Given the description of an element on the screen output the (x, y) to click on. 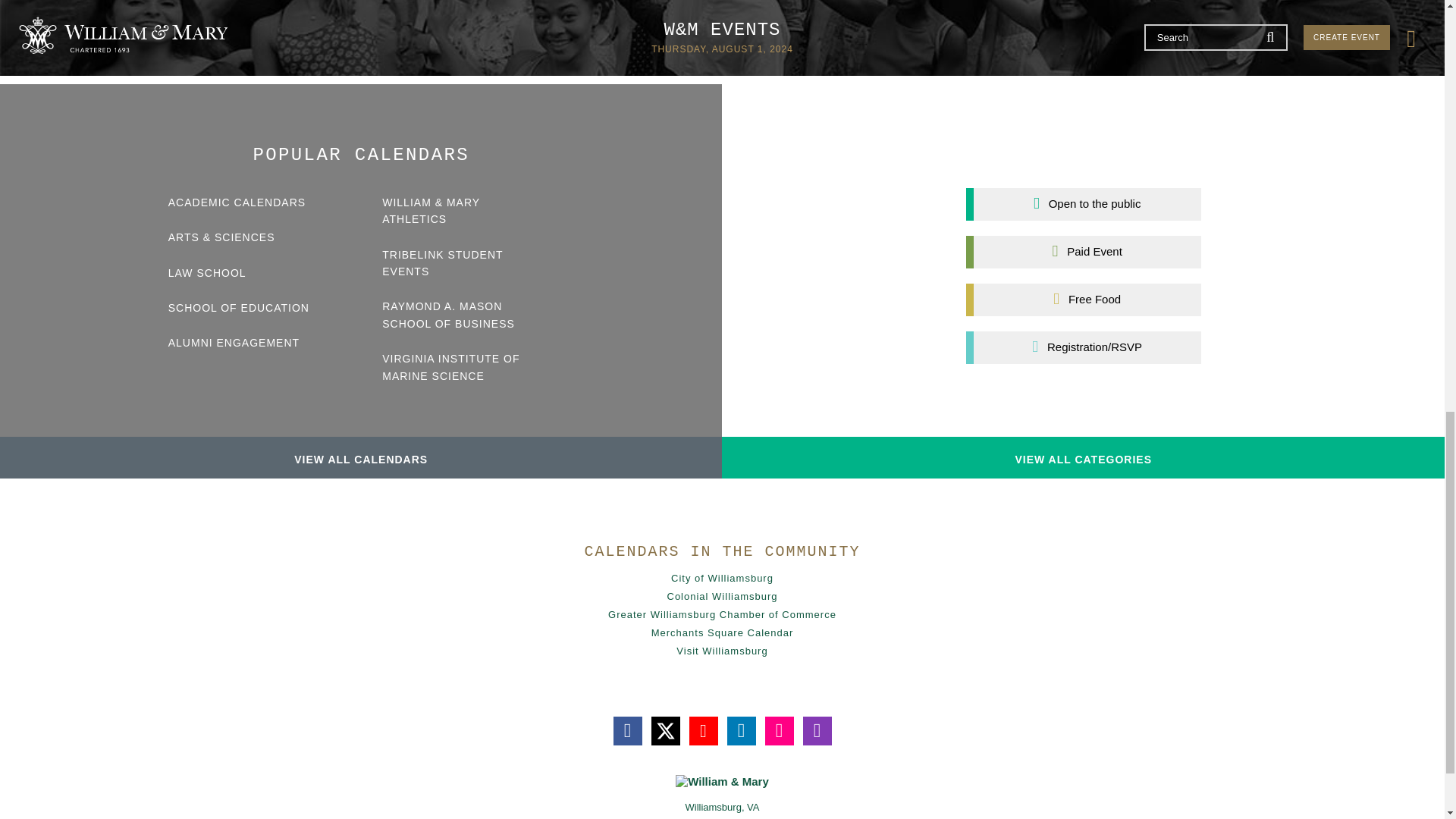
X (664, 730)
Instagram (816, 730)
Facebook (627, 730)
YouTube (702, 730)
Writing and Communication Center Events (442, 19)
LinkedIn (740, 730)
Flickr (778, 730)
